Given the description of an element on the screen output the (x, y) to click on. 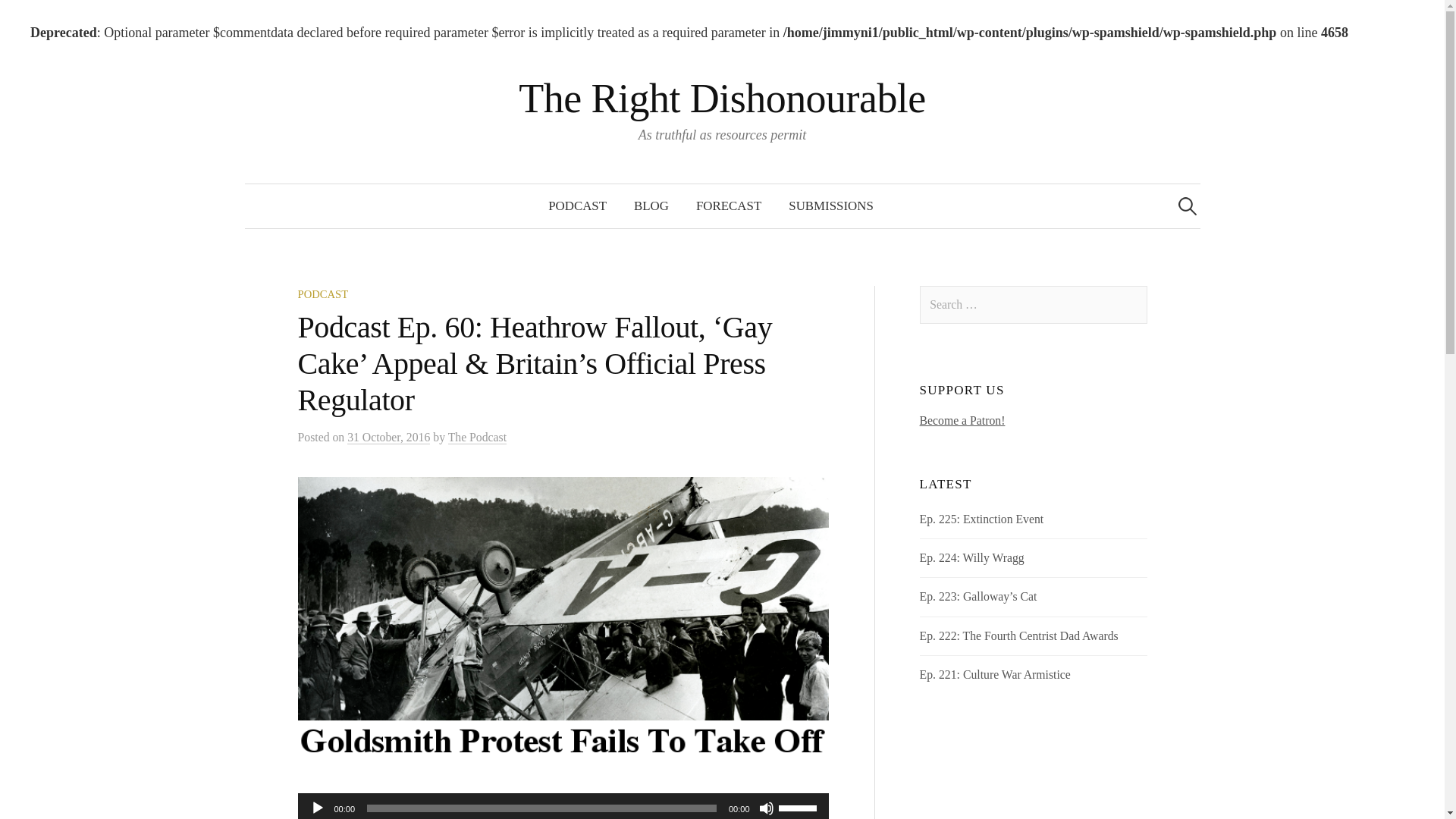
View all posts by The Podcast (477, 437)
Search (40, 18)
PODCAST (577, 206)
Ep. 225: Extinction Event (981, 518)
The Podcast (477, 437)
Ep. 224: Willy Wragg (972, 557)
PODCAST (322, 294)
Play (316, 807)
Search (18, 18)
Ep. 221: Culture War Armistice (995, 674)
Ep. 222: The Fourth Centrist Dad Awards (1019, 635)
31 October, 2016 (388, 437)
Mute (765, 807)
SUBMISSIONS (830, 206)
